Given the description of an element on the screen output the (x, y) to click on. 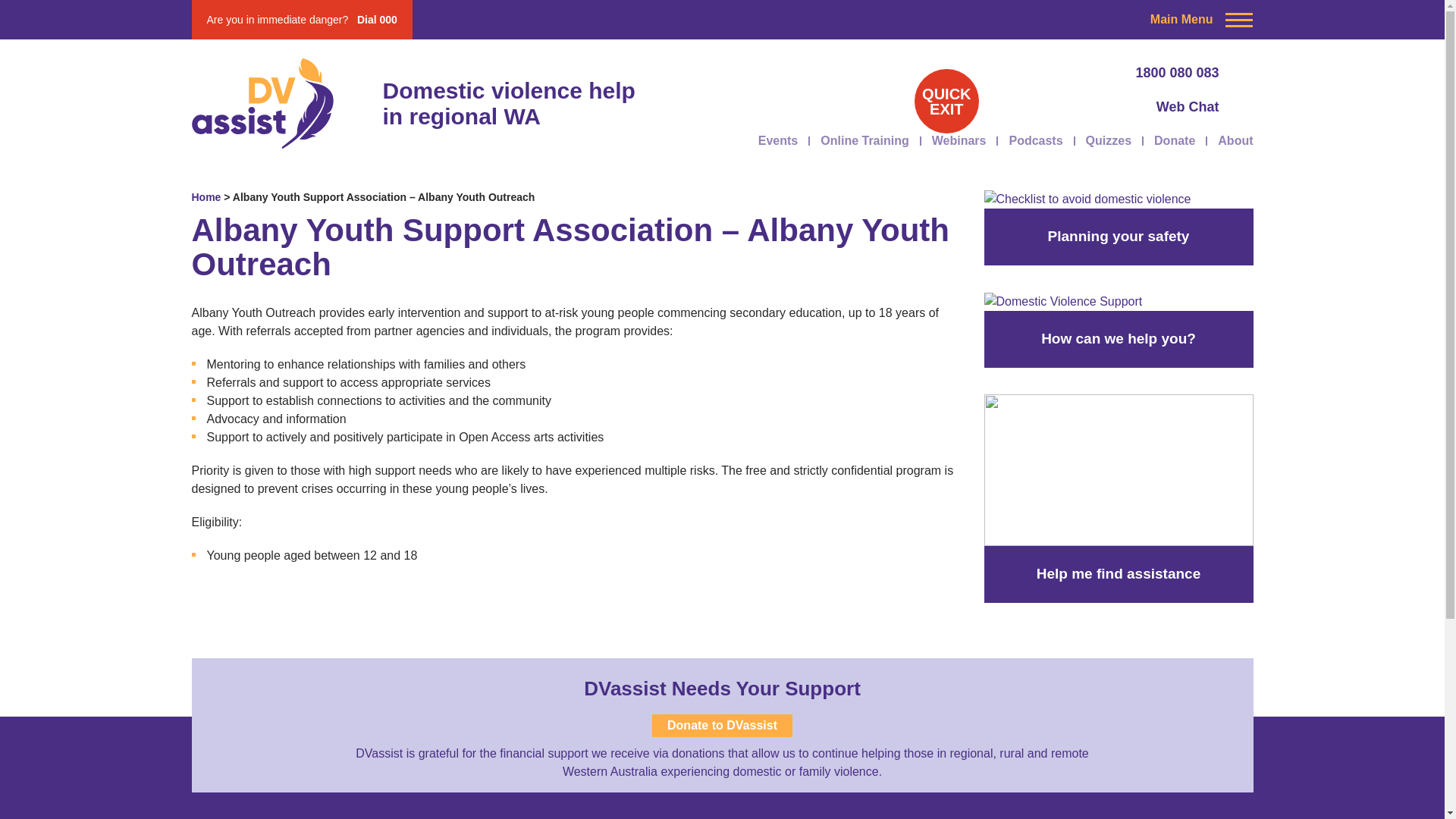
Podcasts (1035, 140)
Home (205, 196)
Dial 000 (376, 19)
How can we help you? (1118, 500)
Donate (1174, 140)
1800 080 083 (1083, 73)
Webinars (959, 140)
Go to DVassist. (205, 196)
Quizzes (1108, 140)
Web Chat (1083, 107)
